Given the description of an element on the screen output the (x, y) to click on. 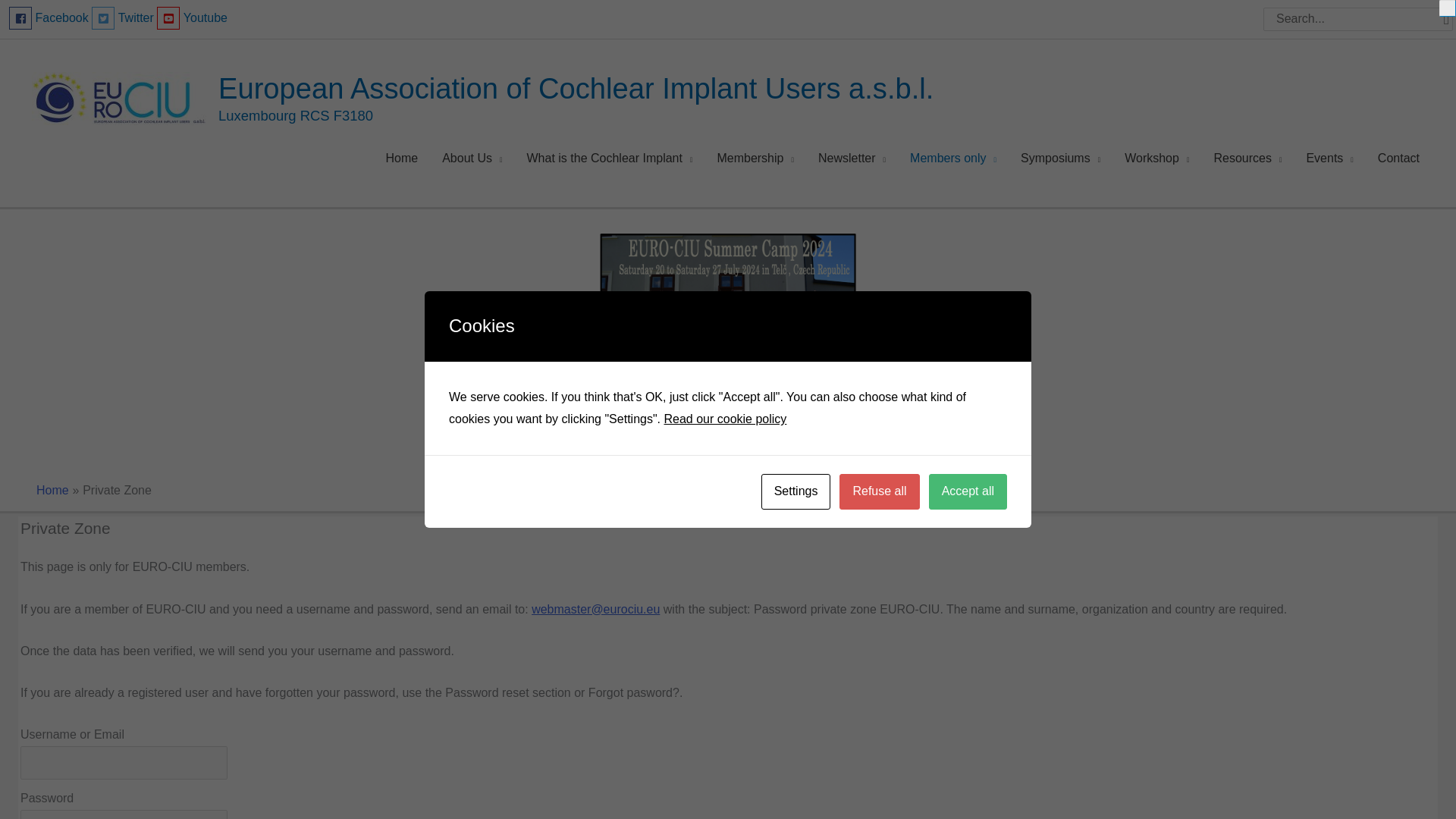
About Us (471, 158)
What is the Cochlear Implant (608, 158)
Youtube (192, 18)
Newsletter (852, 158)
Home (400, 158)
Twitter (122, 18)
European Association of Cochlear Implant Users a.s.b.l. (575, 87)
Membership (755, 158)
Facebook (48, 18)
